Given the description of an element on the screen output the (x, y) to click on. 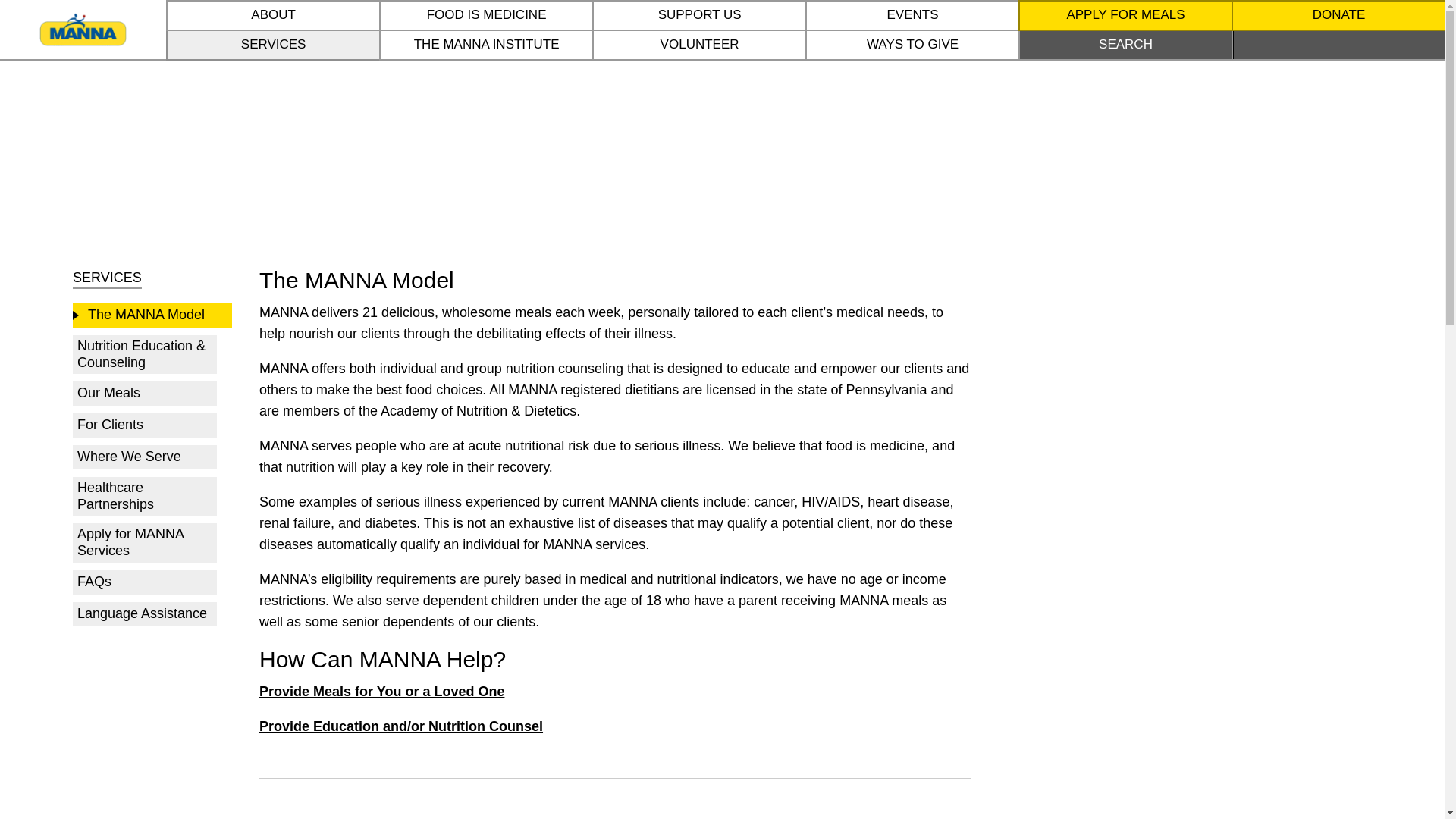
SUPPORT US (699, 15)
FOOD IS MEDICINE (486, 15)
VOLUNTEER (699, 44)
THE MANNA INSTITUTE (486, 44)
ABOUT (272, 15)
SERVICES (272, 44)
